Given the description of an element on the screen output the (x, y) to click on. 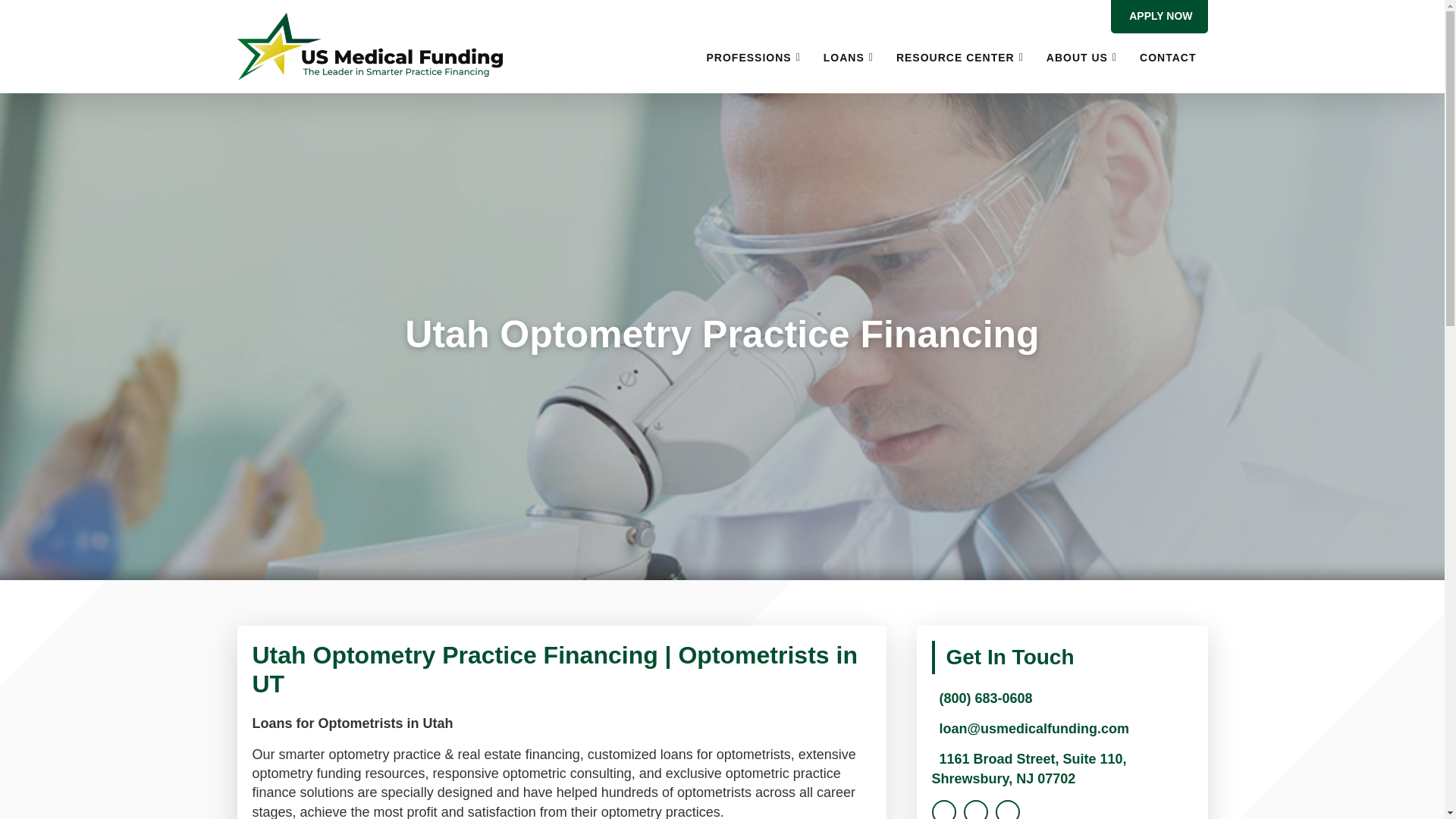
PROFESSIONS (753, 63)
LOANS (848, 63)
